Given the description of an element on the screen output the (x, y) to click on. 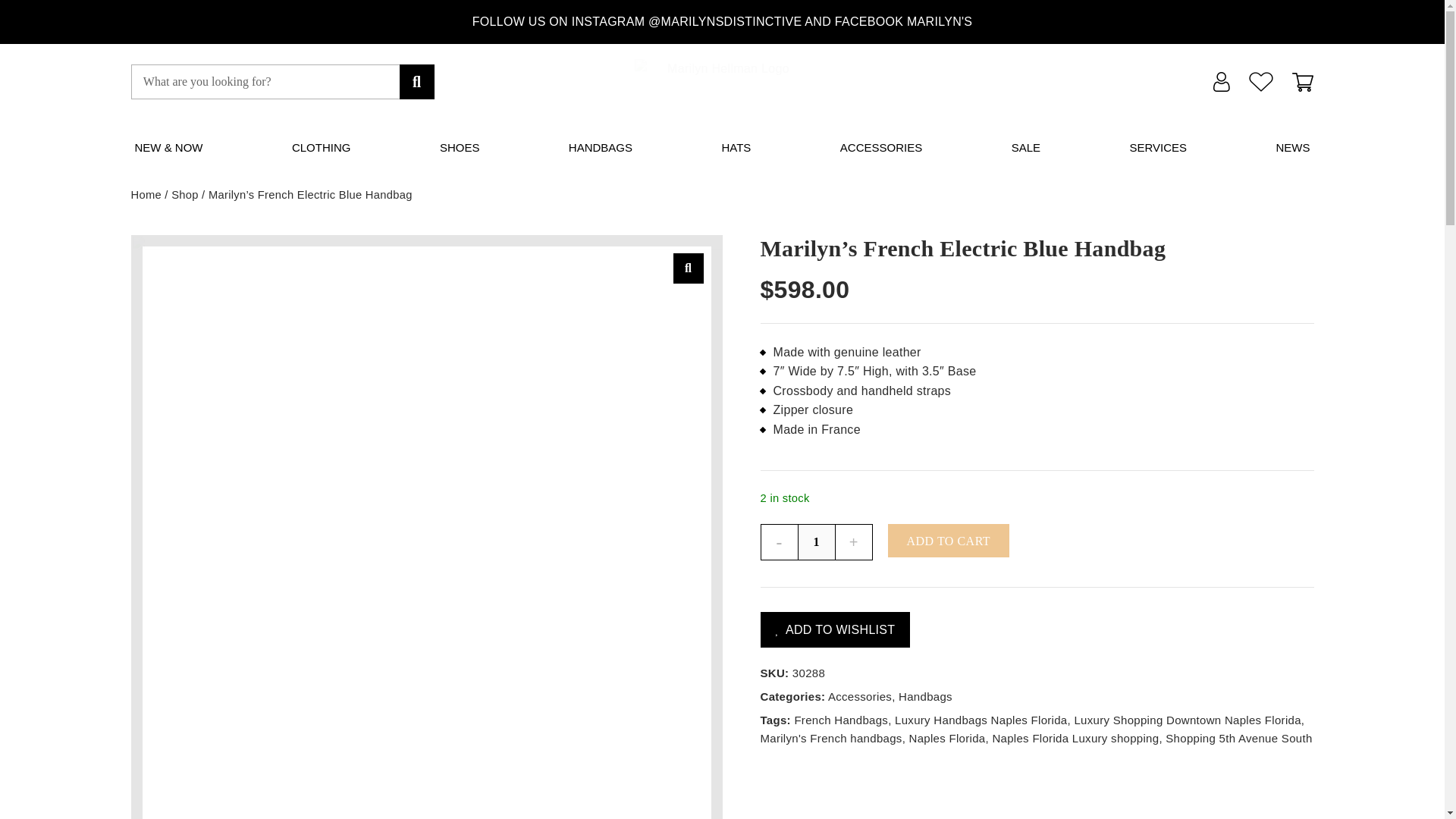
1 (816, 541)
CLOTHING (321, 147)
